Given the description of an element on the screen output the (x, y) to click on. 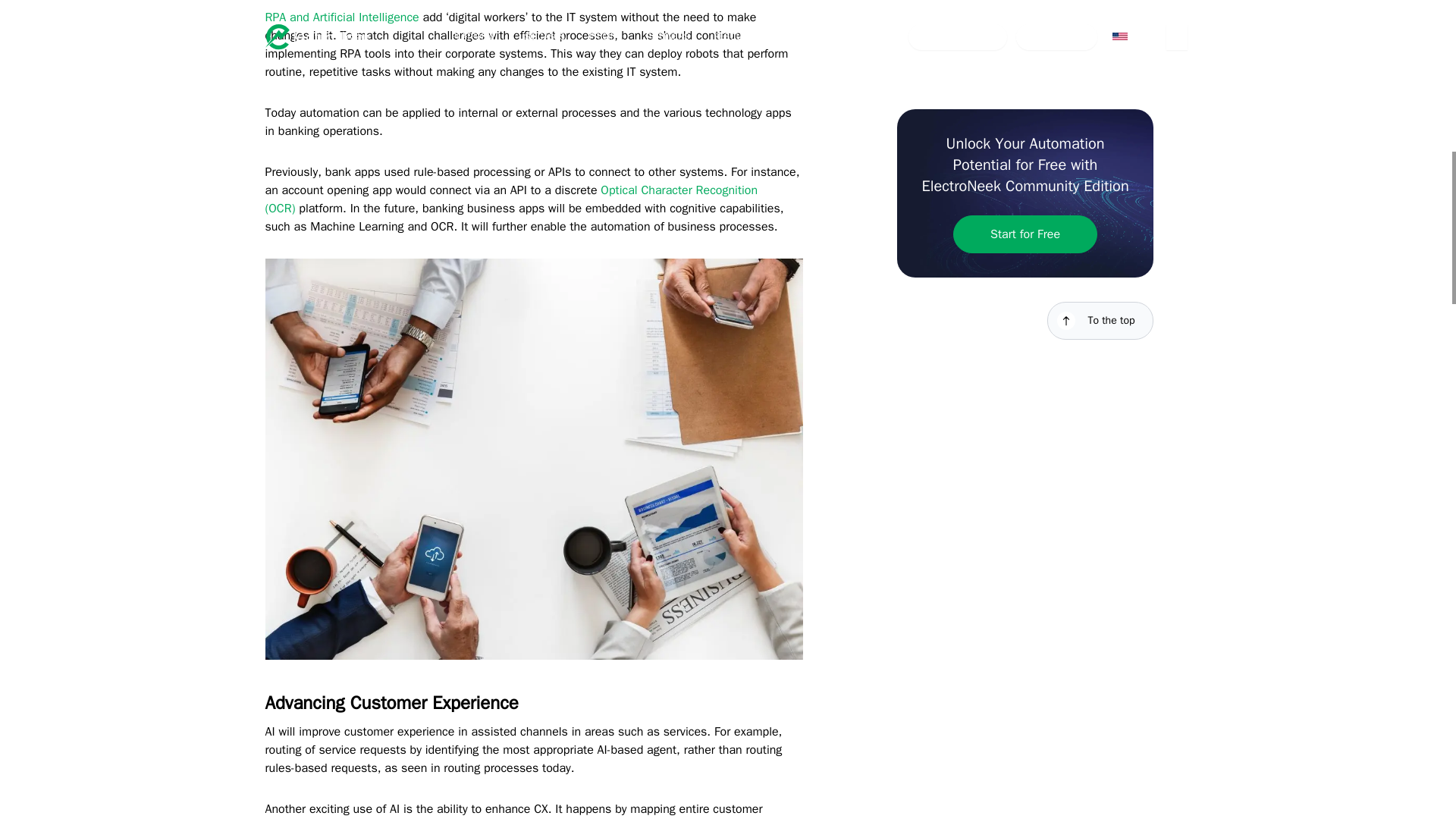
RPA and Artificial Intelligence (341, 17)
